Given the description of an element on the screen output the (x, y) to click on. 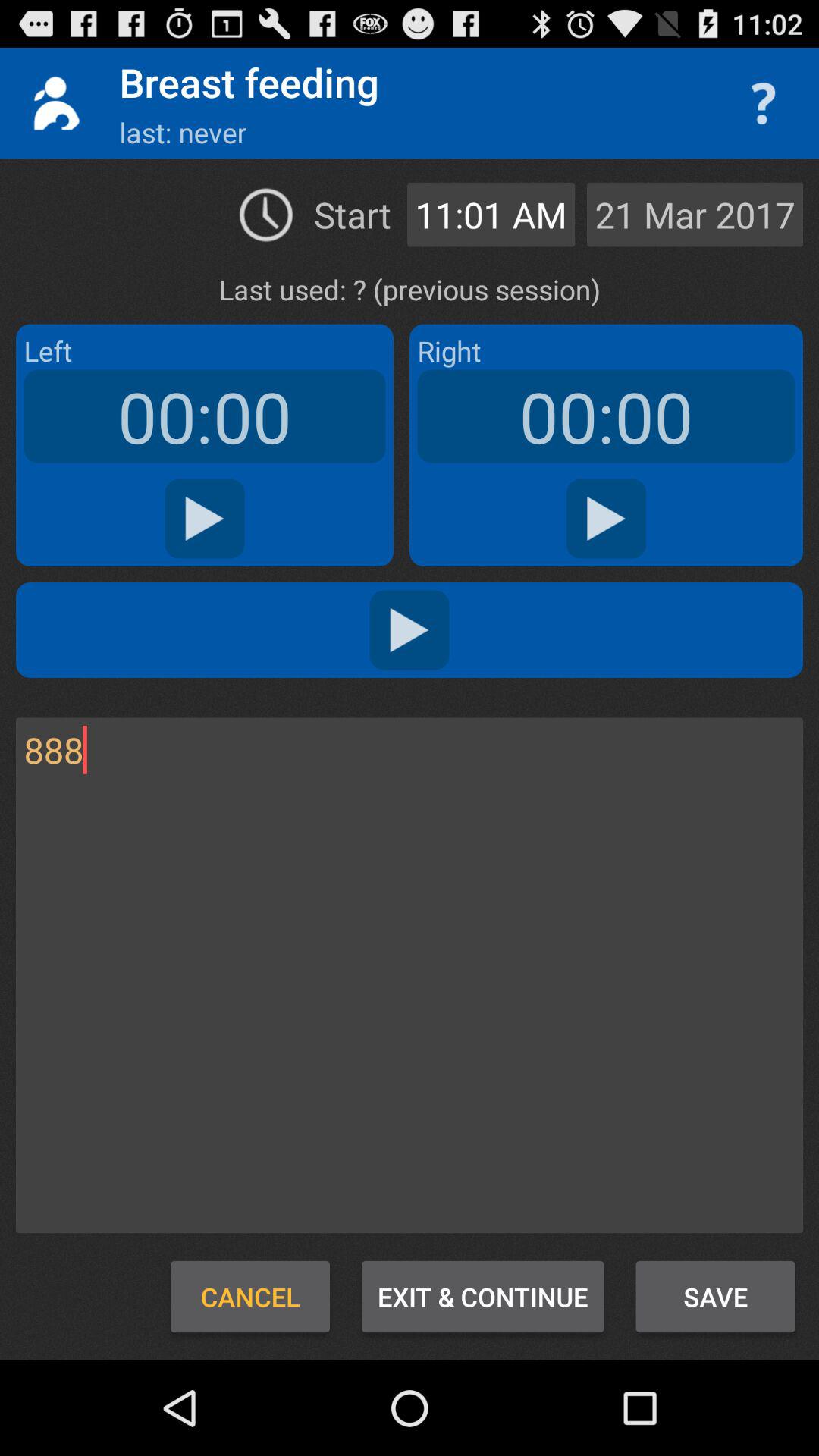
record feeding minutes (204, 518)
